Given the description of an element on the screen output the (x, y) to click on. 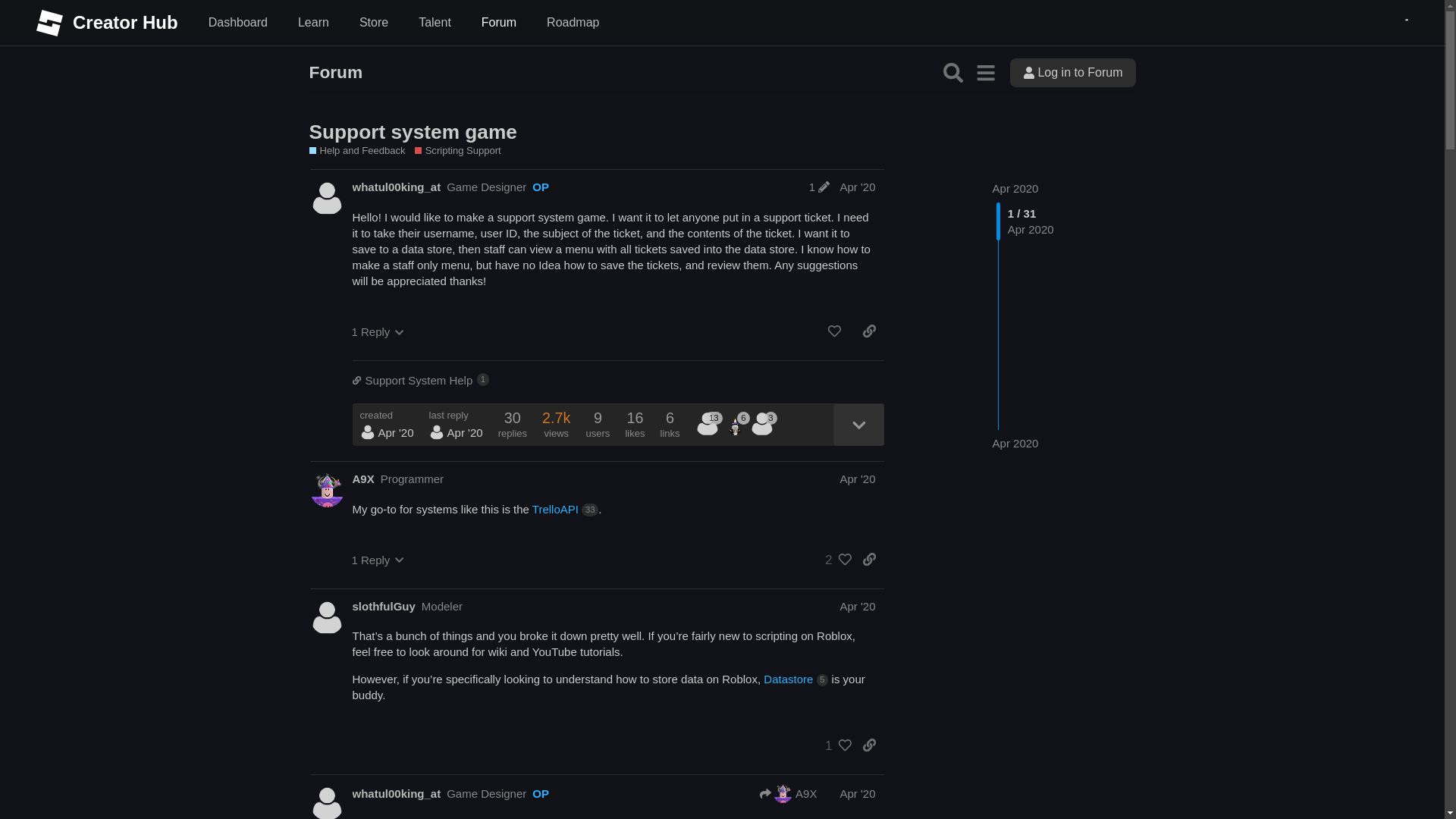
Apr '20 (857, 478)
Apr '20 (857, 186)
Log in to Forum (617, 380)
A9X (1072, 72)
share a link to this post (363, 478)
Apr 23, 2020 1:35 am (869, 330)
1 Reply (464, 431)
Talent (377, 331)
